Given the description of an element on the screen output the (x, y) to click on. 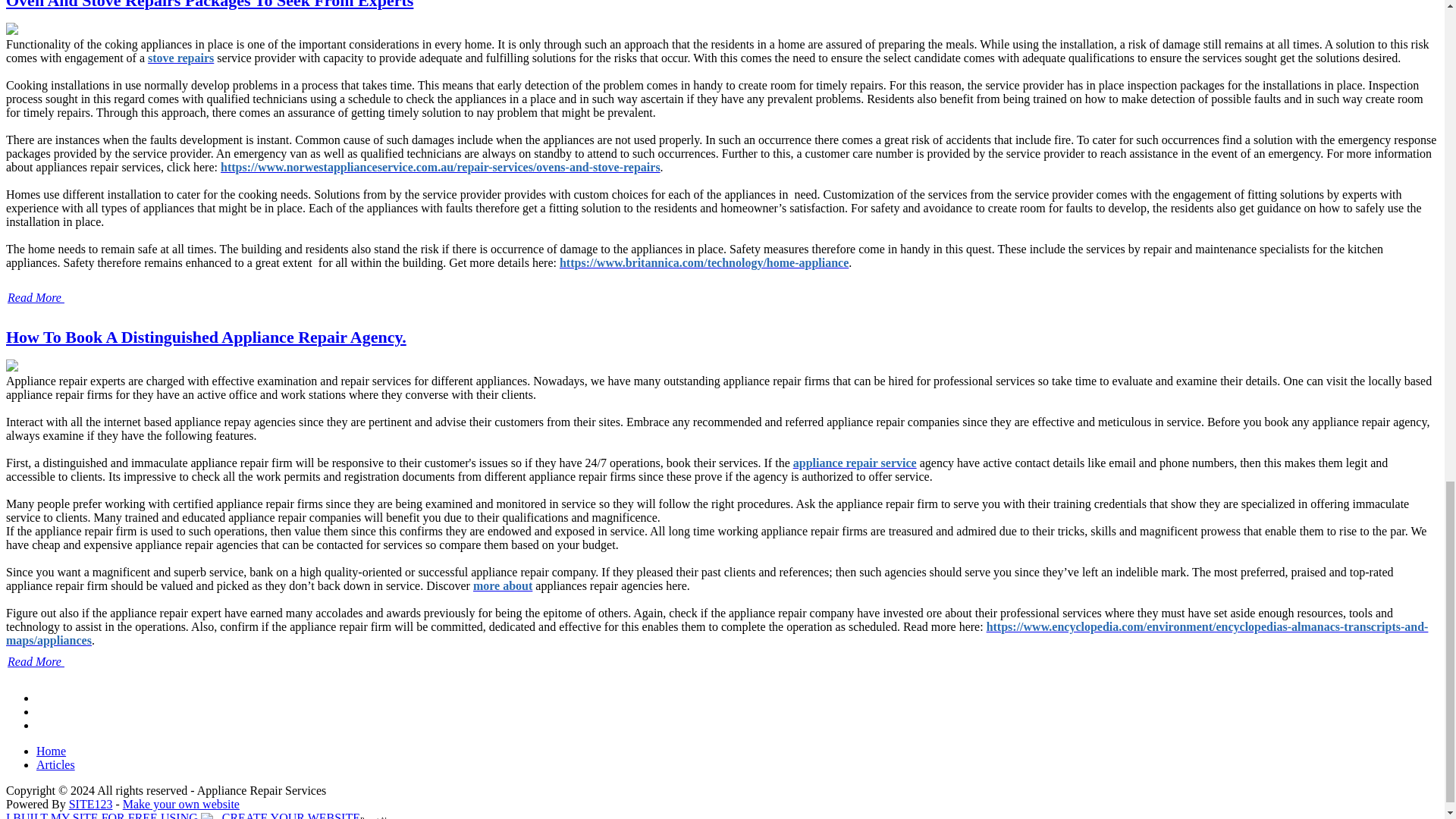
appliance repair service (855, 462)
Make your own website (181, 803)
Articles (55, 764)
How To Book A Distinguished Appliance Repair Agency. (205, 336)
stove repairs (181, 57)
more about (502, 585)
SITE123 (90, 803)
Oven And Stove Repairs Packages To Seek From Experts (209, 4)
Home (50, 750)
